Given the description of an element on the screen output the (x, y) to click on. 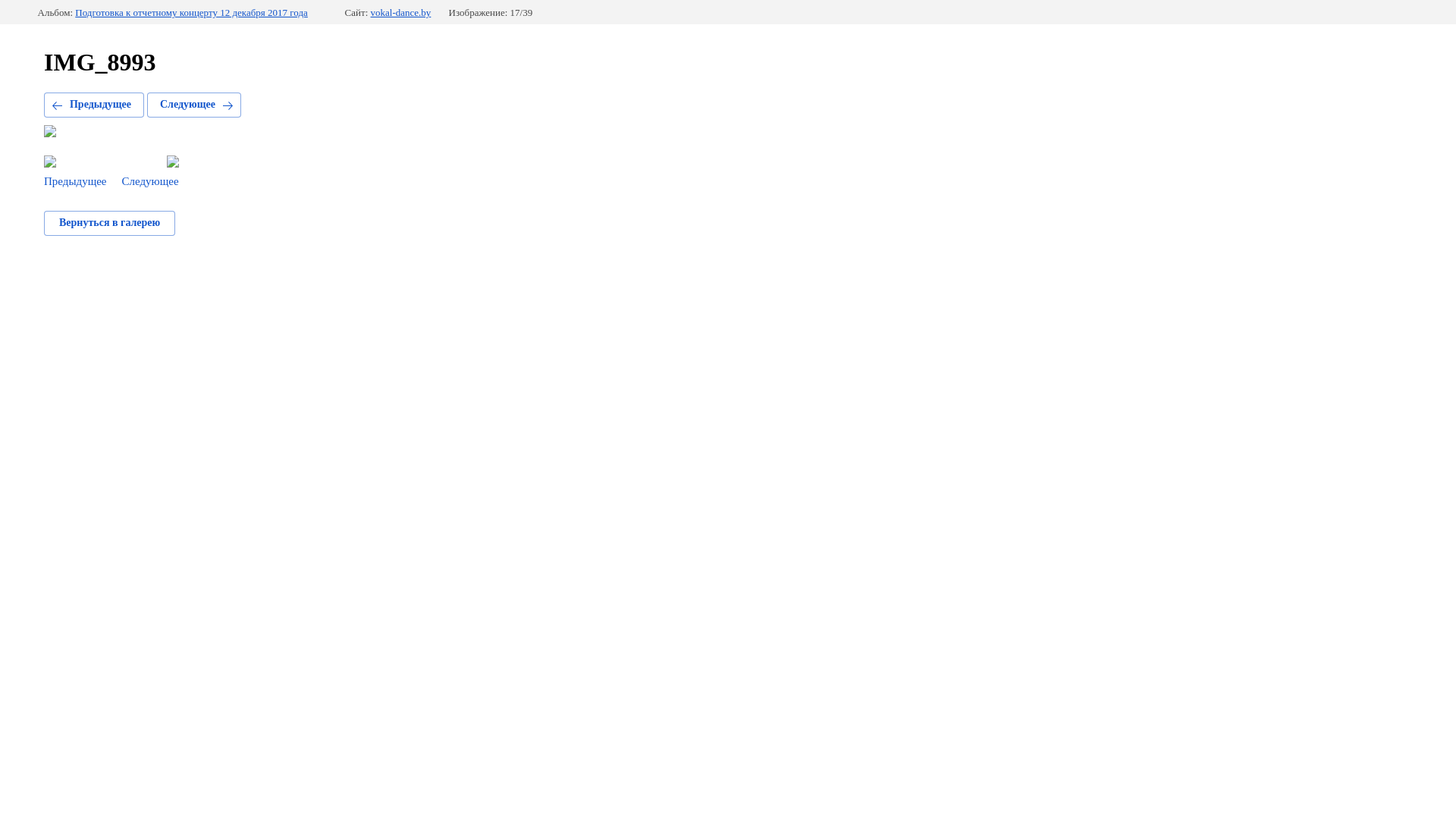
vokal-dance.by Element type: text (400, 12)
